Given the description of an element on the screen output the (x, y) to click on. 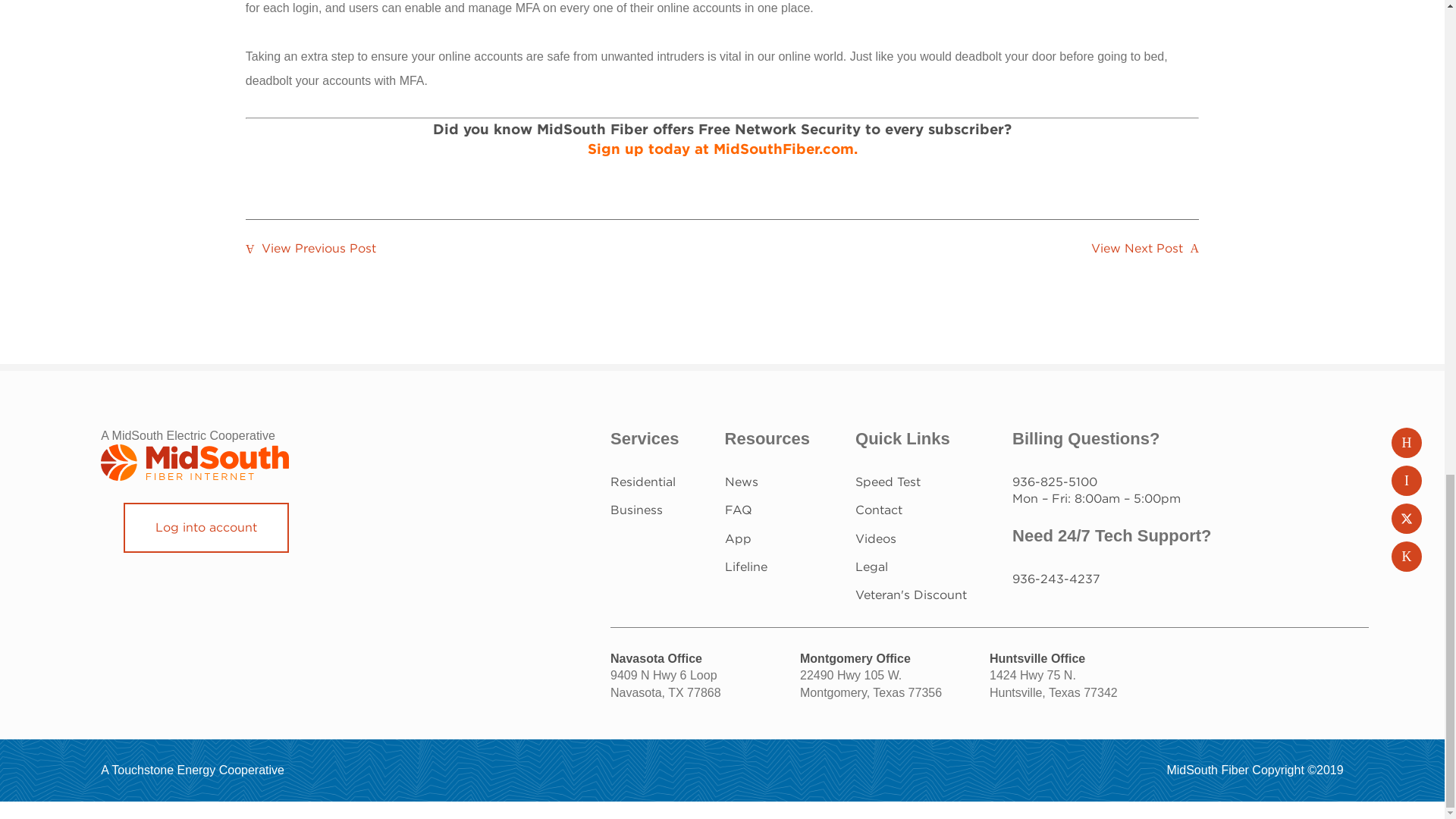
App (738, 538)
Contact (879, 509)
Lifeline (746, 566)
Videos (876, 538)
Log into account (205, 527)
936-825-5100 (1054, 481)
Speed Test (888, 481)
Residential (642, 481)
Business (636, 509)
Veteran's Discount (911, 594)
View Next Post (1144, 248)
Sign up today at MidSouthFiber.com. (721, 148)
Legal (872, 566)
936-243-4237 (1055, 578)
View Previous Post (311, 248)
